Given the description of an element on the screen output the (x, y) to click on. 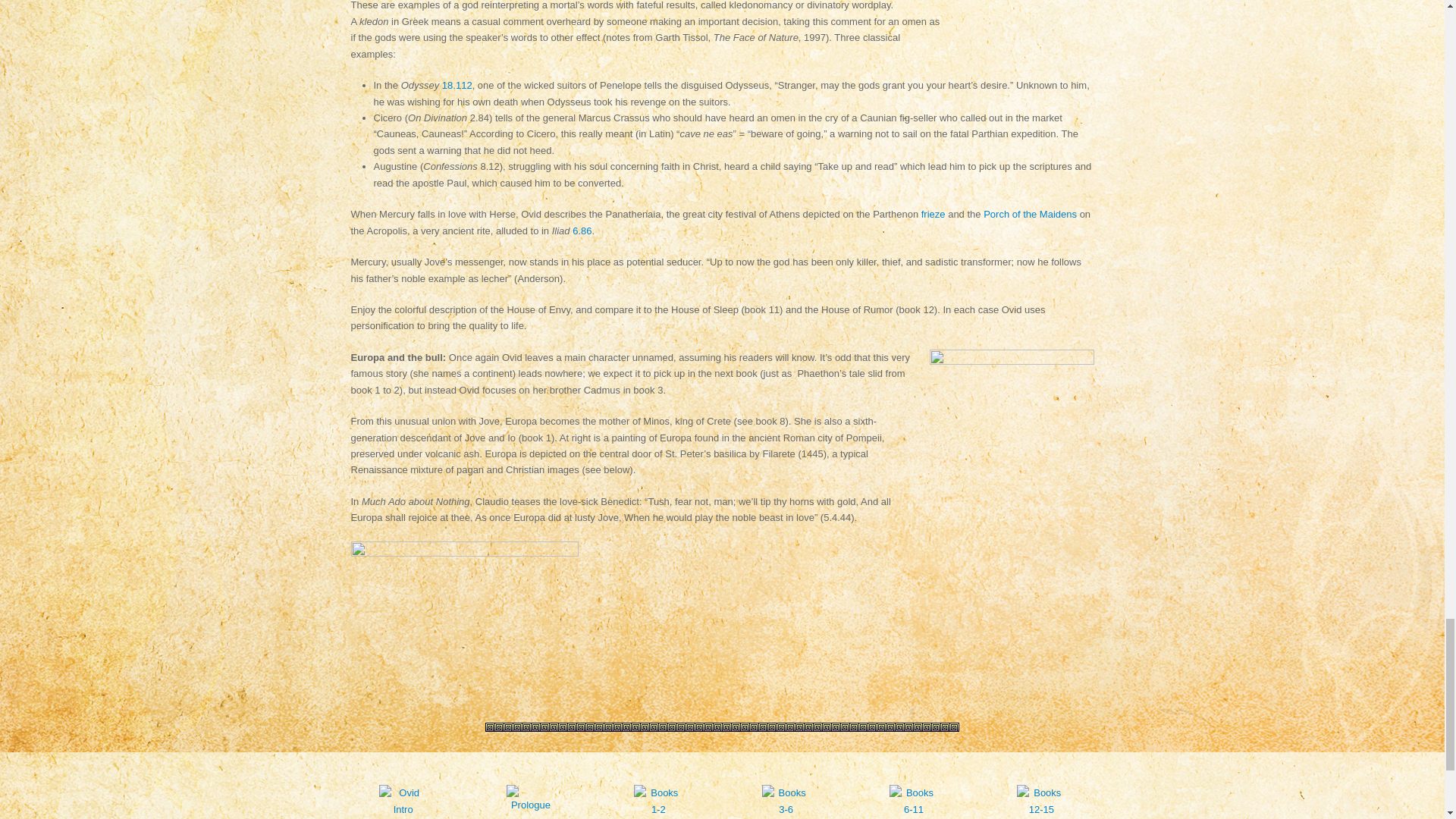
frieze (932, 214)
Books 6-11 (913, 811)
Books 1-2 (657, 811)
6.86 (581, 230)
Books 3-6 (785, 811)
Books 12-15 (1040, 811)
18.112 (456, 84)
Porch of the Maidens (1030, 214)
Ovid Intro (402, 811)
Prologue (531, 809)
